Given the description of an element on the screen output the (x, y) to click on. 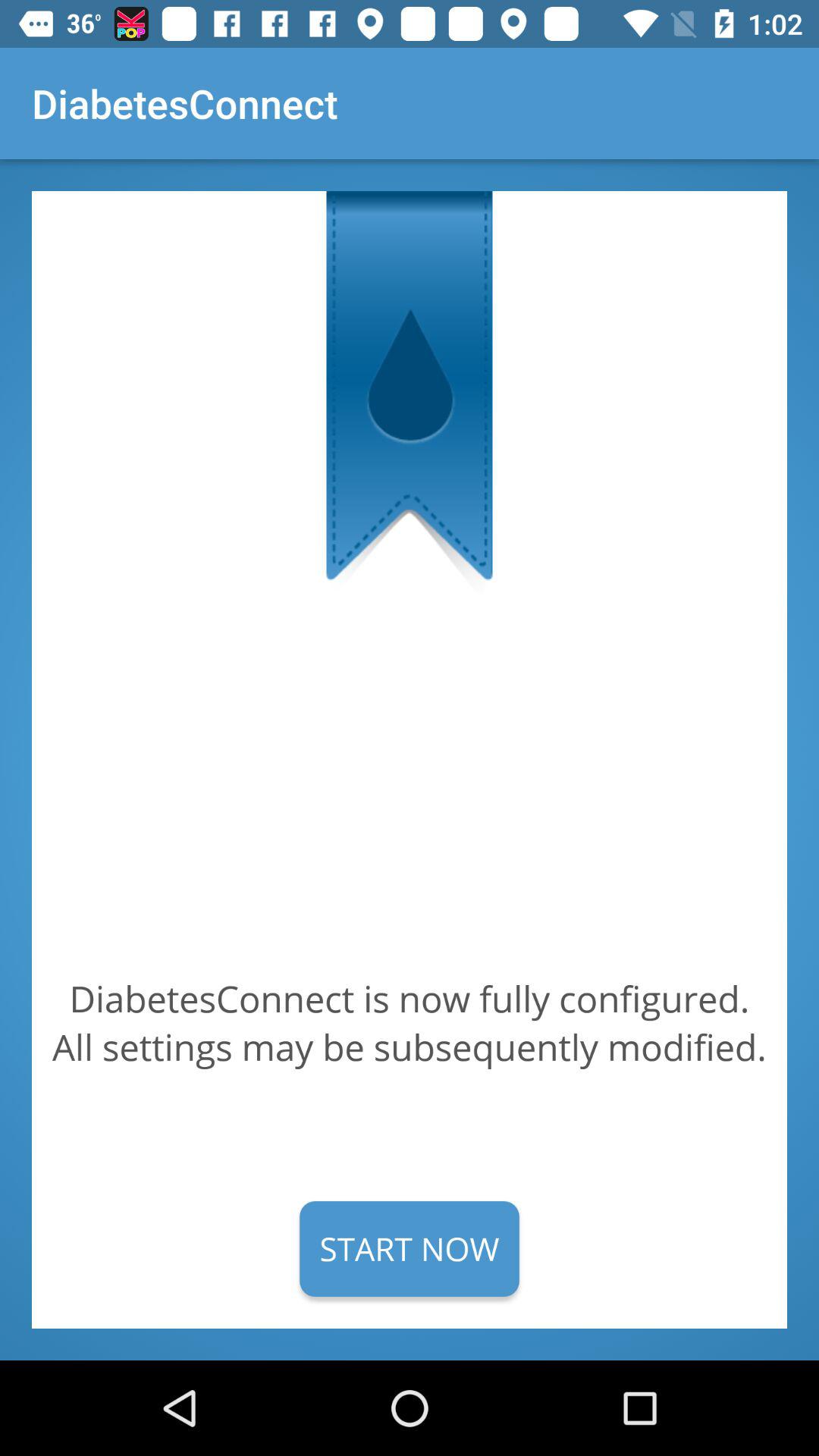
turn on the icon below diabetesconnect is now icon (409, 1248)
